Given the description of an element on the screen output the (x, y) to click on. 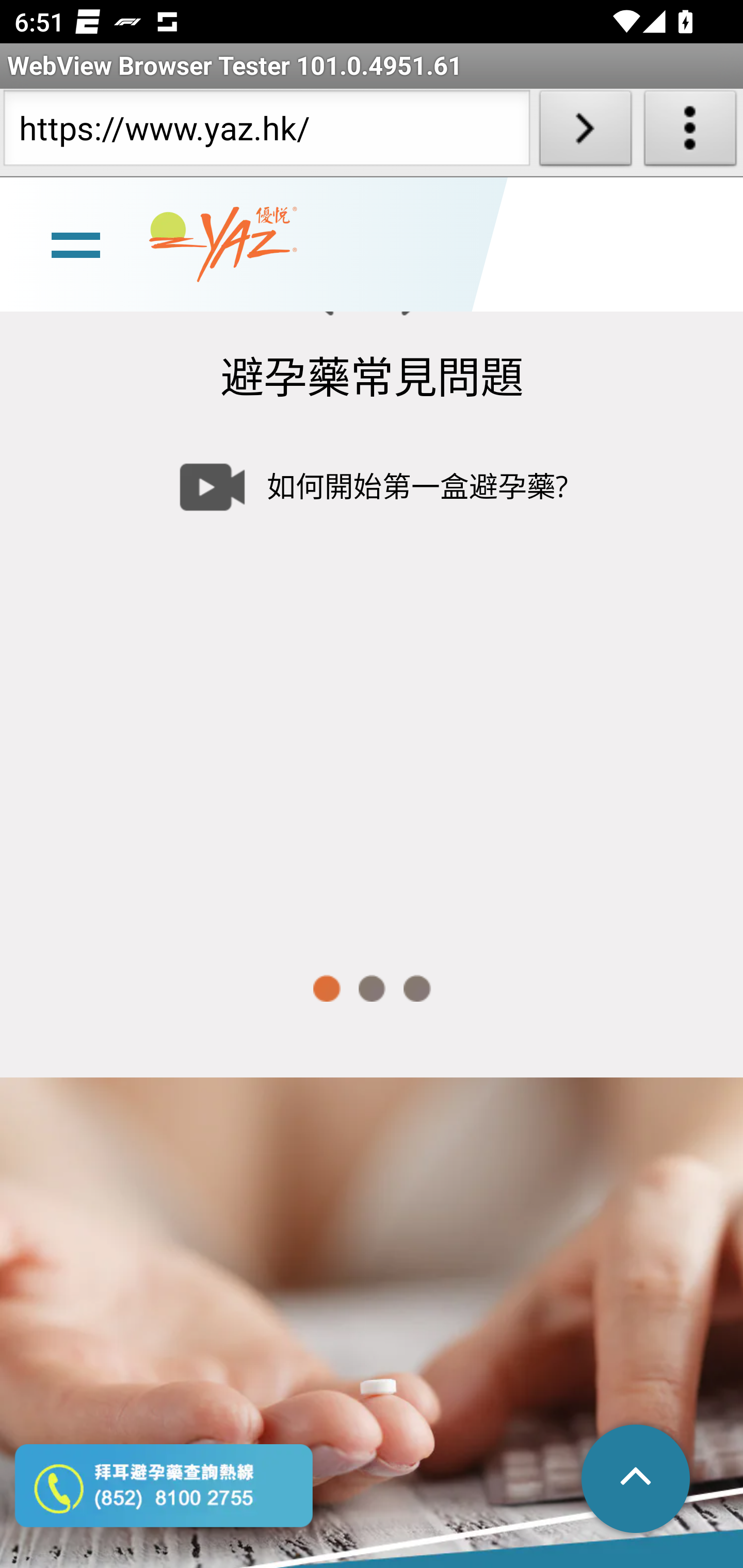
https://www.yaz.hk/ (266, 132)
Load URL (585, 132)
About WebView (690, 132)
www.yaz (222, 244)
line Toggle burger menu (75, 242)
slide 1 如何開始第一盒避孕藥? Video Player Video Player (371, 678)
1 of 3 (326, 988)
2 of 3 (371, 988)
3 of 3 (416, 988)
 (636, 1480)
